Given the description of an element on the screen output the (x, y) to click on. 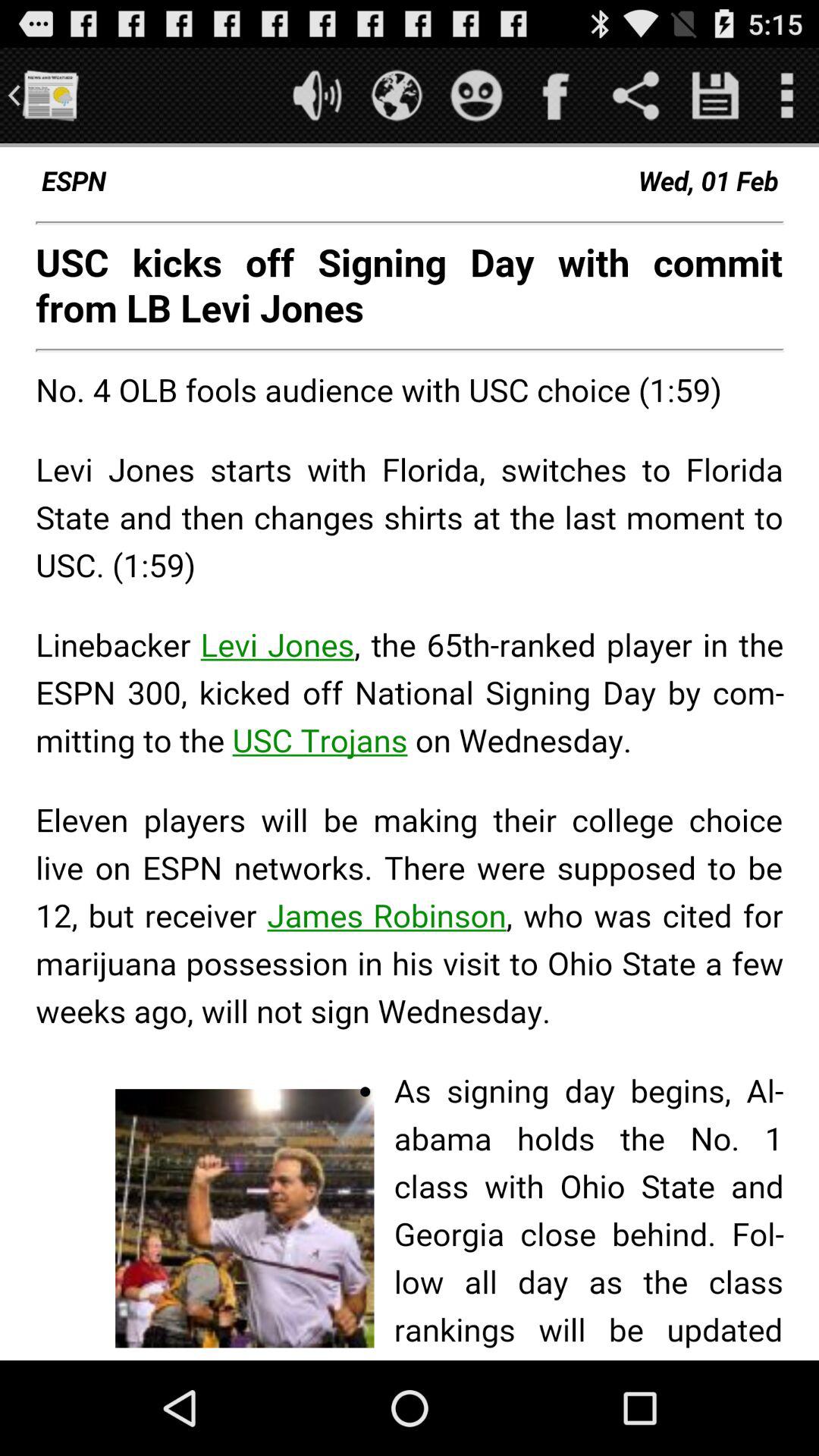
sound on (317, 95)
